Given the description of an element on the screen output the (x, y) to click on. 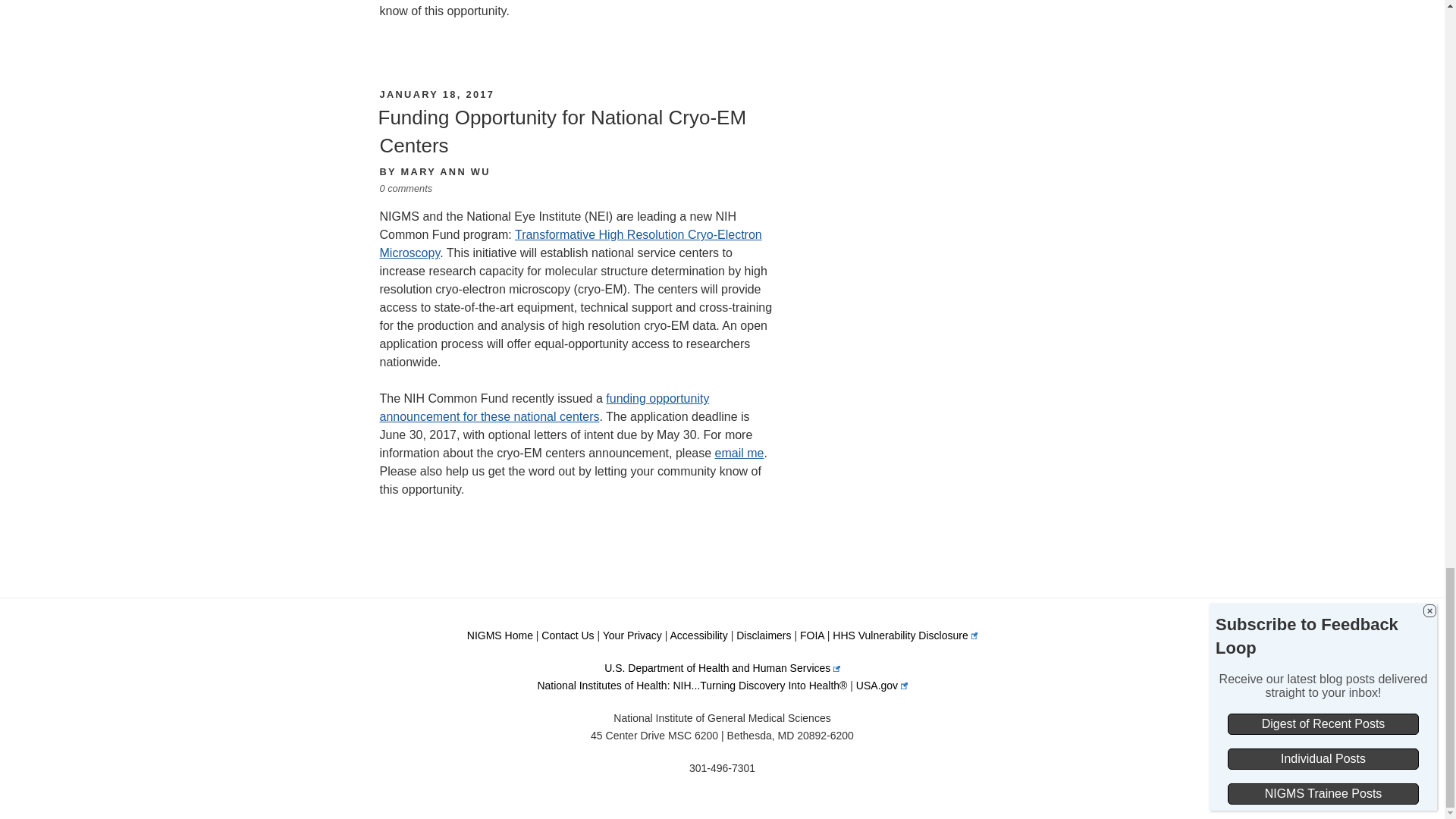
MARY ANN WU (445, 171)
JANUARY 18, 2017 (436, 93)
Funding Opportunity for National Cryo-EM Centers (561, 131)
Posts by Mary Ann Wu (445, 171)
Transformative High Resolution Cryo-Electron Microscopy (569, 243)
email me (739, 452)
funding opportunity announcement for these national centers (543, 407)
